Given the description of an element on the screen output the (x, y) to click on. 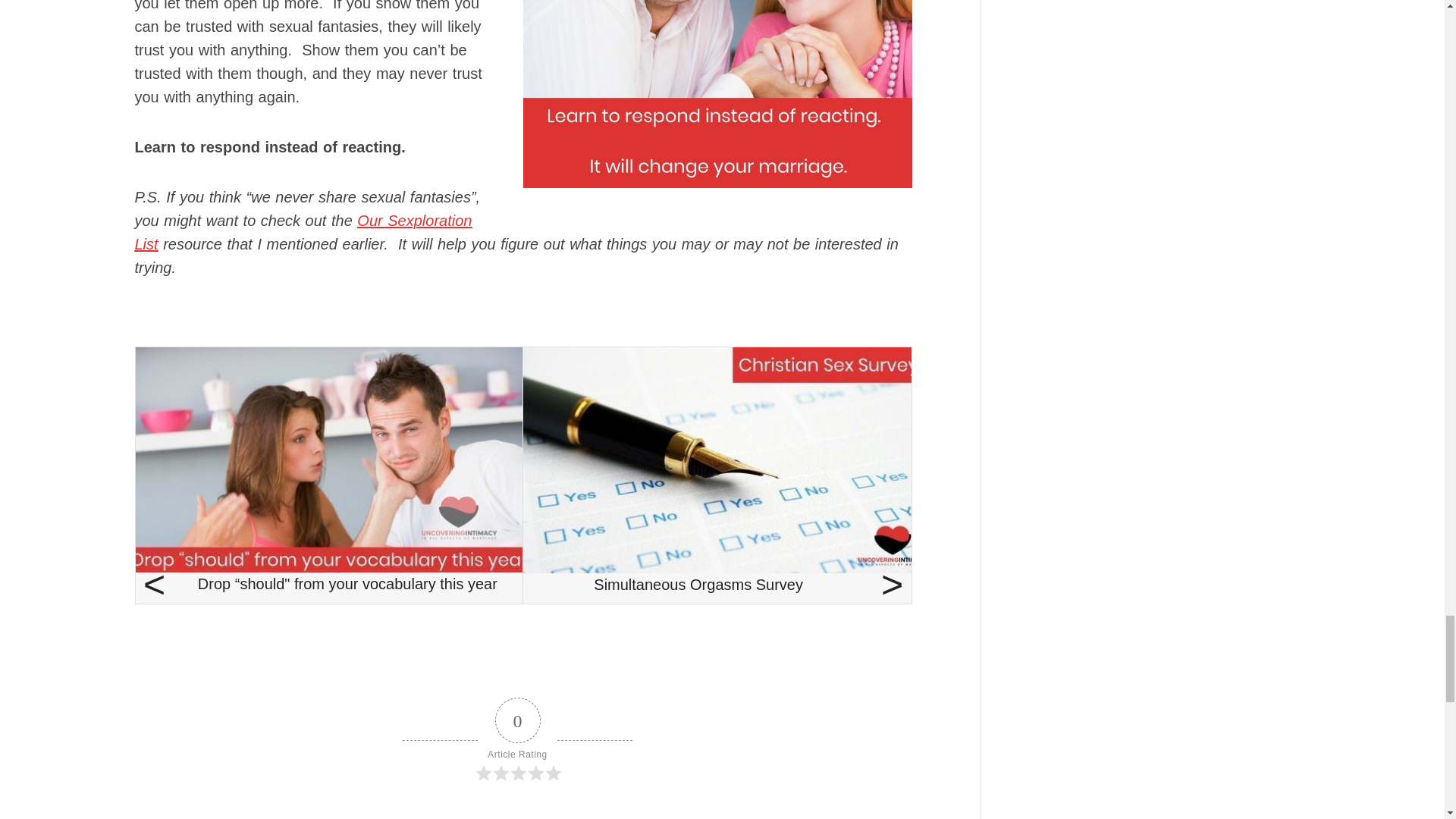
prev Post (328, 475)
Next Post (716, 475)
